Given the description of an element on the screen output the (x, y) to click on. 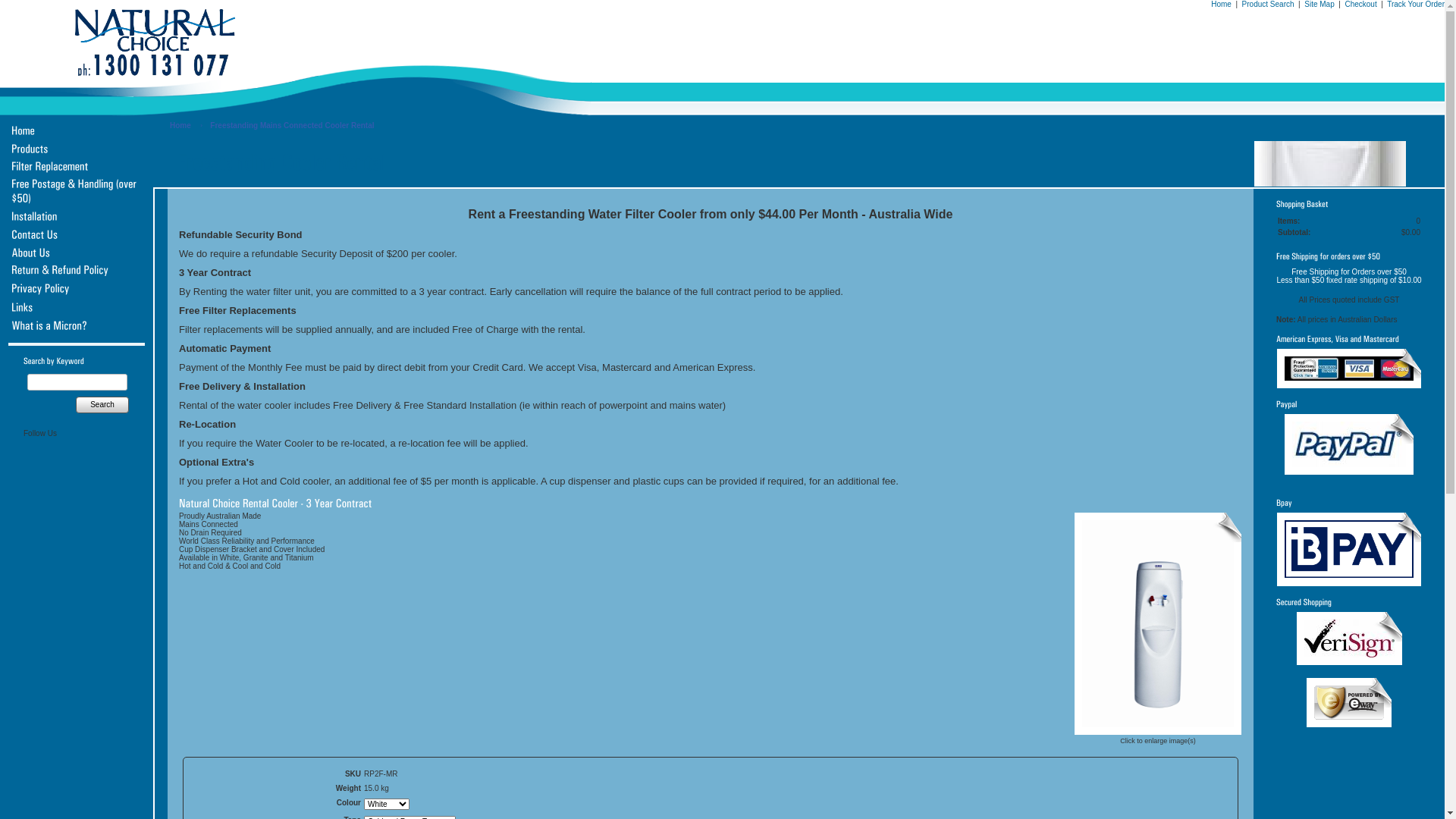
Search Element type: text (101, 404)
Freestanding Mains Connected Cooler Rental Element type: text (291, 125)
Product Search Element type: text (1268, 4)
Checkout Element type: text (1360, 4)
Bpay  Element type: hover (1349, 549)
Home Element type: text (1221, 4)
Eway Secure Payment Element type: hover (1348, 702)
Home Element type: text (180, 125)
Track Your Order Element type: text (1415, 4)
Natural Choice Rental Cooler - 3 Year Contract Element type: hover (1157, 730)
Credit Cards Element type: hover (1349, 368)
Site Map Element type: text (1318, 4)
Paypal  Element type: hover (1348, 444)
Natural Choice Rental Cooler - 3 Year Contract Element type: hover (1157, 623)
Secured Shopping Element type: hover (1349, 638)
